Given the description of an element on the screen output the (x, y) to click on. 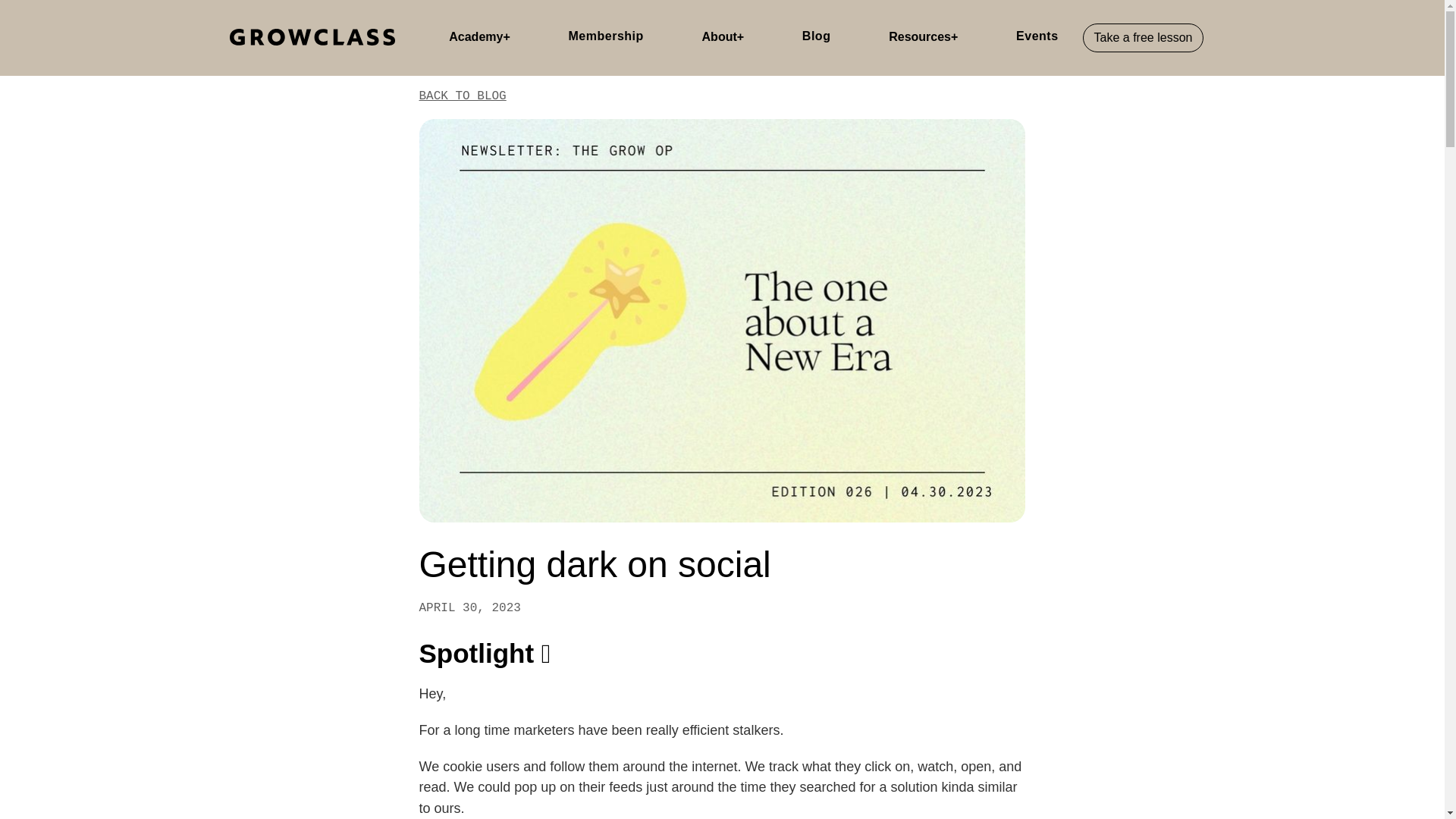
BACK TO BLOG (462, 96)
Membership (606, 37)
Blog (816, 37)
Events (1036, 37)
Take a free lesson (1143, 36)
